Given the description of an element on the screen output the (x, y) to click on. 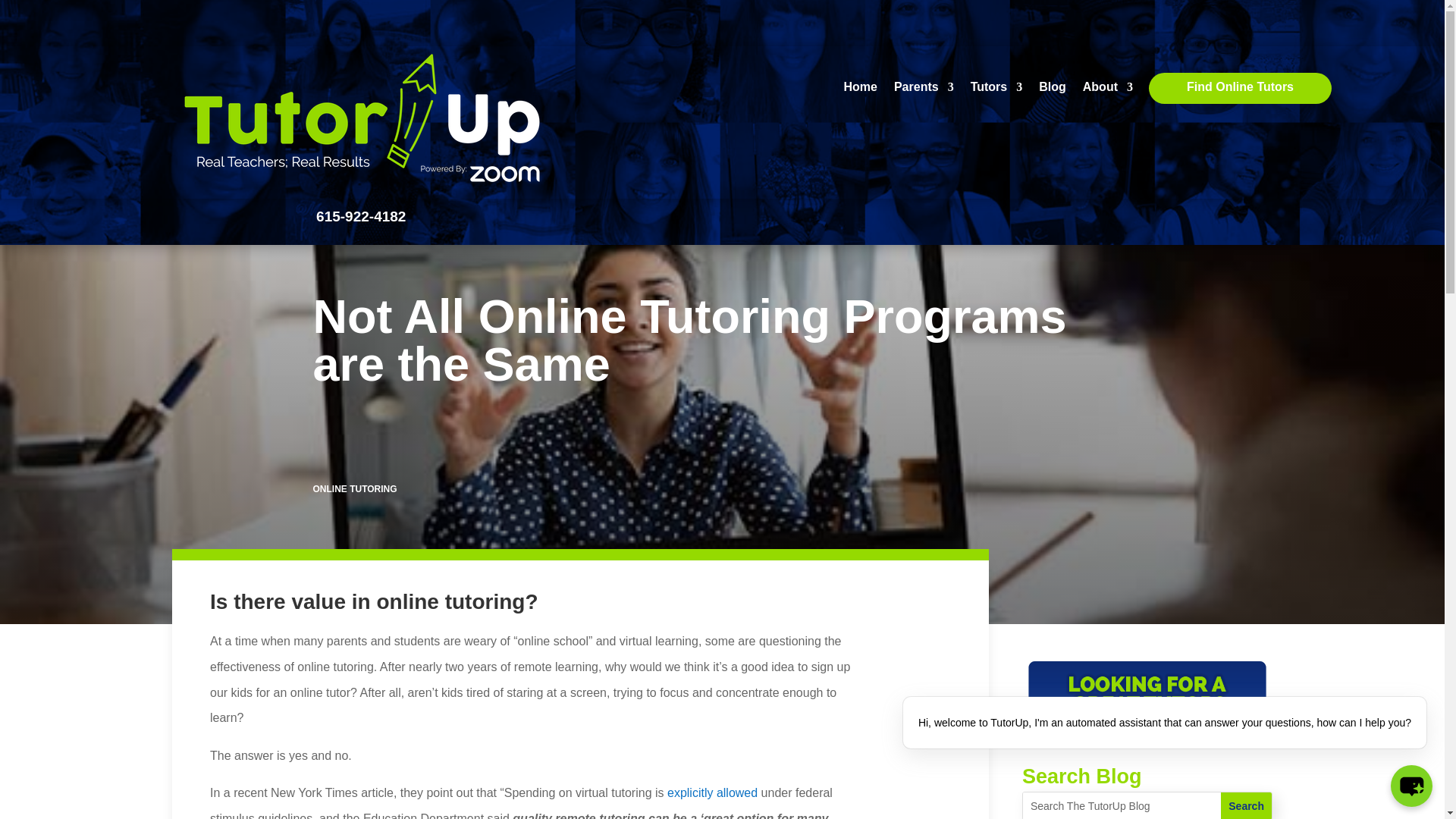
Find Online Tutors (1240, 89)
looking (1147, 702)
Tutors (997, 89)
Search (1246, 805)
Search (1246, 805)
Blog (1052, 89)
Parents (923, 89)
Home (859, 89)
About (1107, 89)
